Given the description of an element on the screen output the (x, y) to click on. 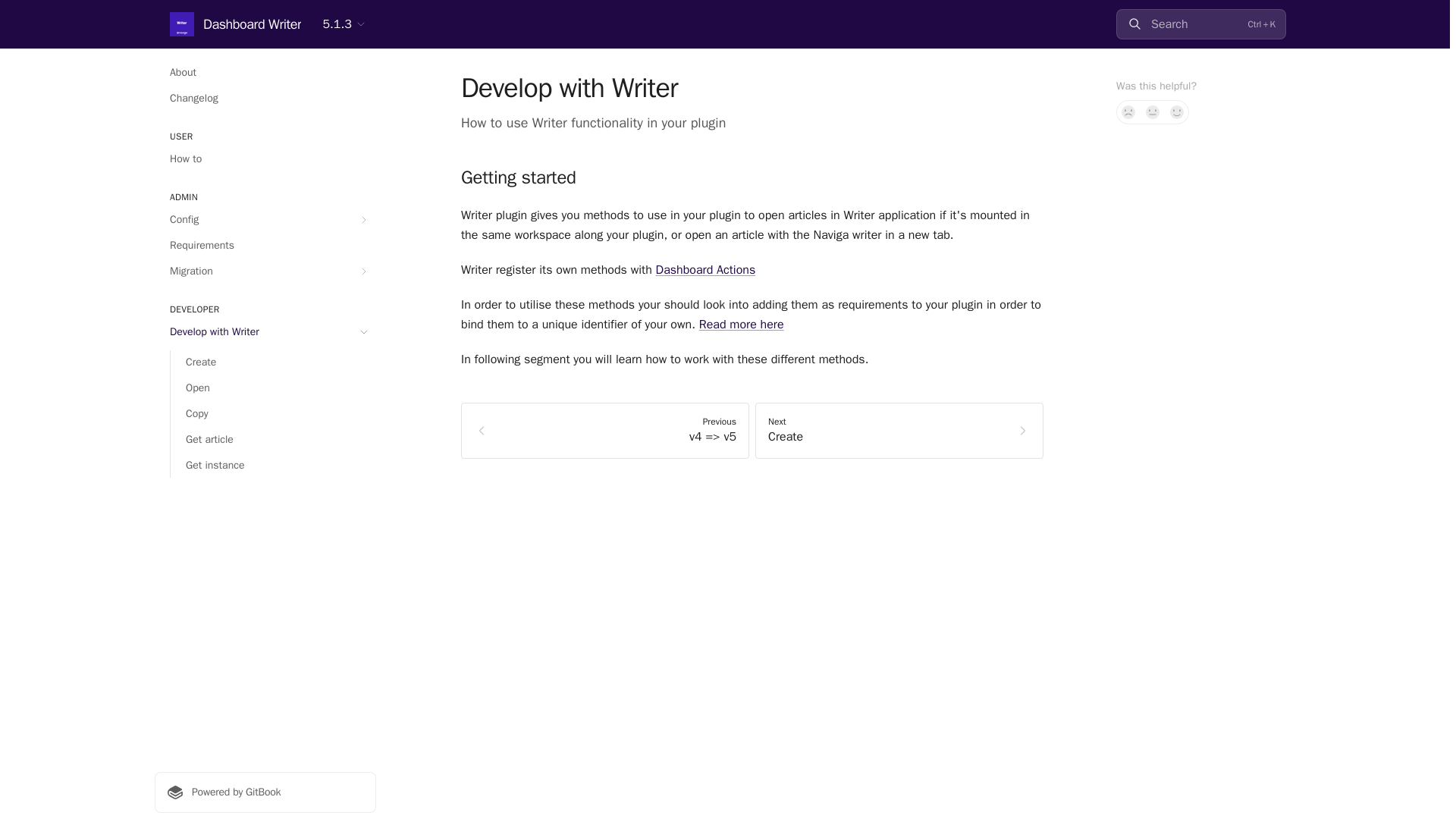
Develop with Writer (264, 331)
No (1128, 111)
Dashboard Writer (235, 24)
Open (272, 387)
Not sure (1152, 111)
Copy (272, 413)
Yes, it was! (1176, 111)
Powered by GitBook (264, 792)
How to (264, 159)
Get instance (272, 465)
Changelog (264, 98)
About (264, 72)
Requirements (264, 245)
Create (272, 362)
Migration (264, 271)
